Given the description of an element on the screen output the (x, y) to click on. 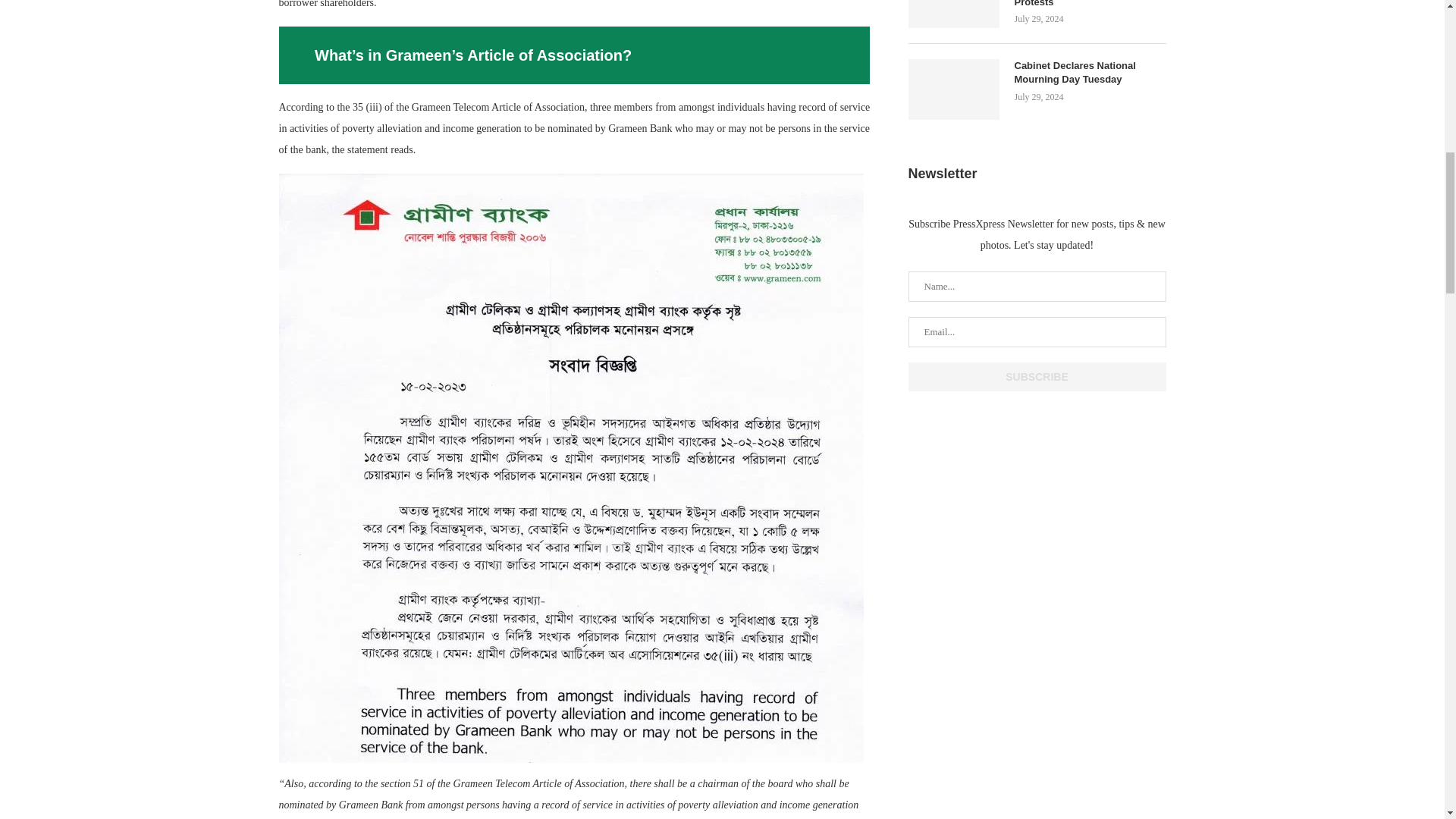
Subscribe (1037, 376)
